Given the description of an element on the screen output the (x, y) to click on. 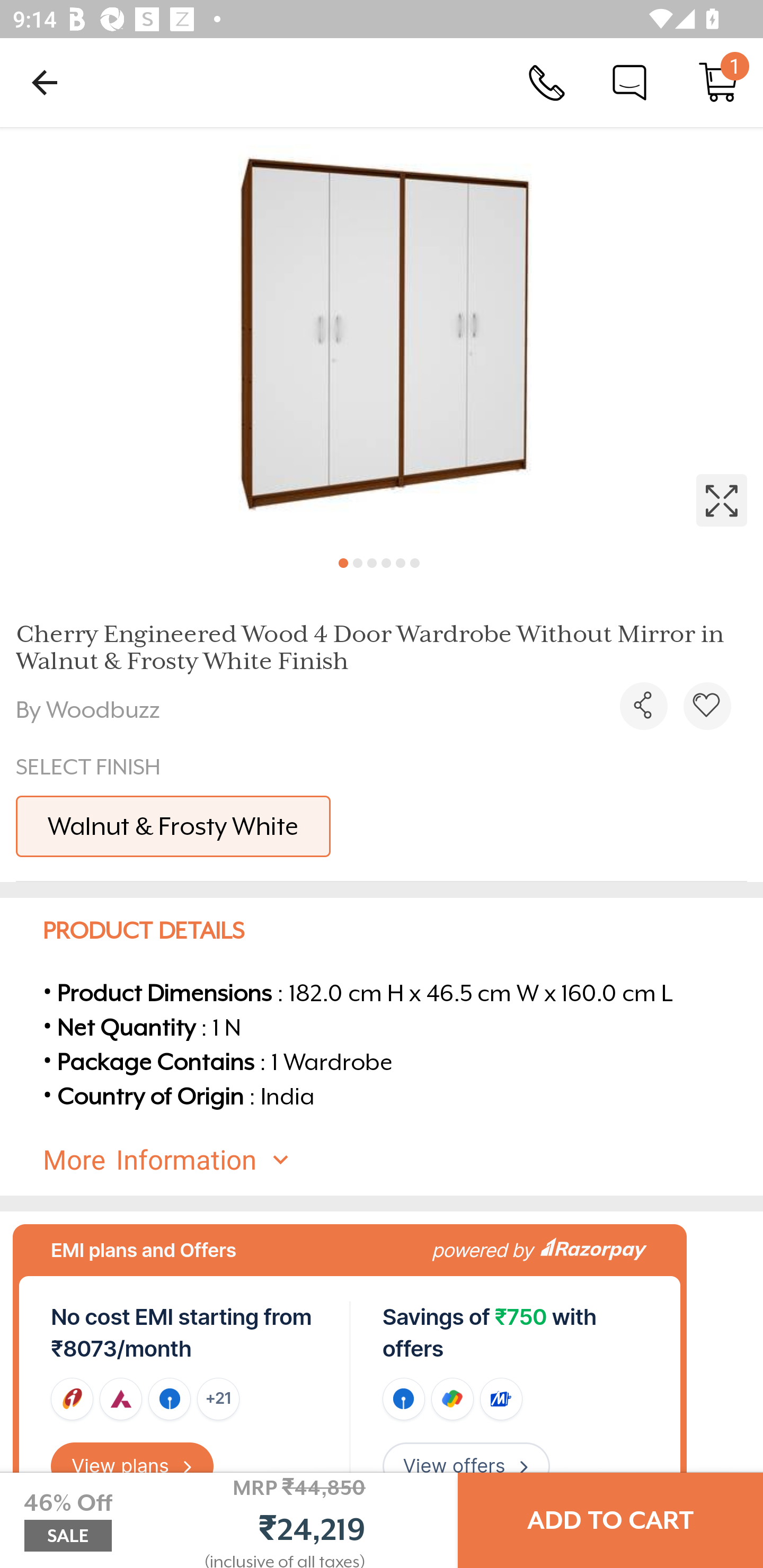
Navigate up (44, 82)
Call Us (546, 81)
Chat (629, 81)
Cart (718, 81)
 (381, 334)
 (643, 706)
 (706, 706)
Walnut & Frosty White (173, 825)
More Information  (396, 1160)
ADD TO CART (610, 1520)
